Given the description of an element on the screen output the (x, y) to click on. 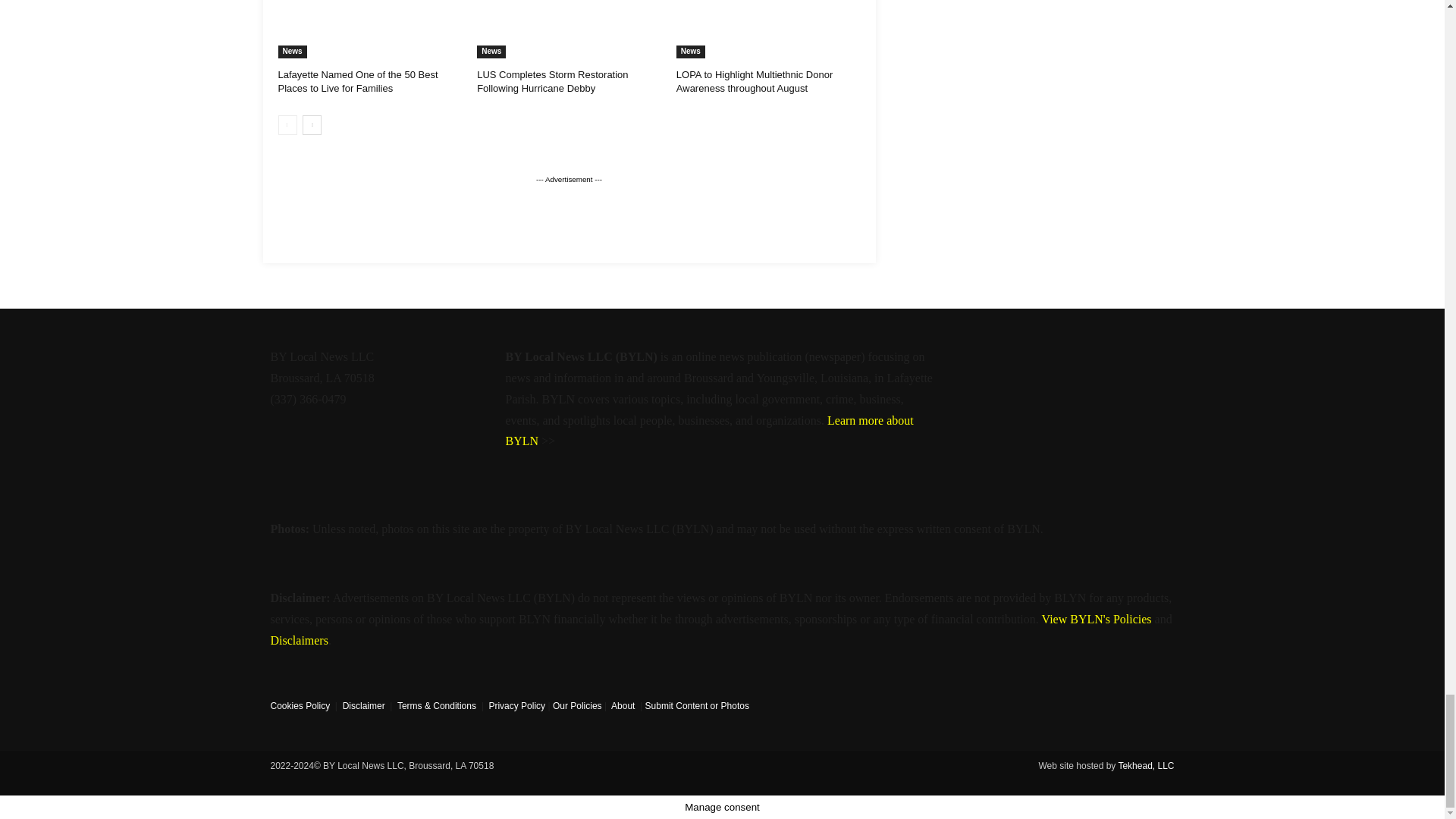
LUS Completes Storm Restoration Following Hurricane Debby (569, 28)
